Given the description of an element on the screen output the (x, y) to click on. 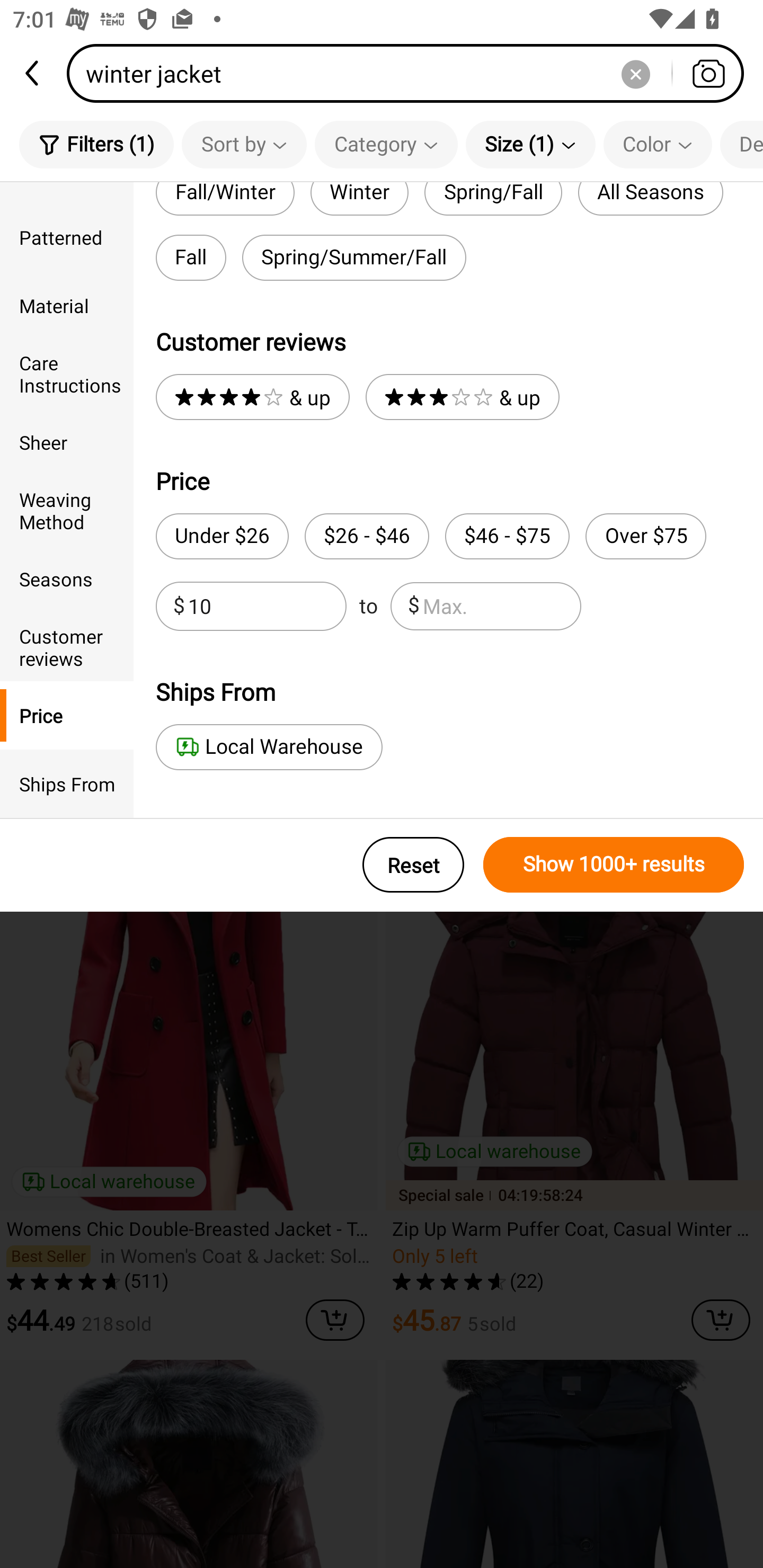
back (33, 72)
winter jacket (411, 73)
Delete search history (635, 73)
Search by photo (708, 73)
Filters (1) (96, 143)
Sort by (243, 143)
Category (385, 143)
Size (1) (530, 143)
Color (657, 143)
Fall/Winter (224, 198)
Winter (359, 198)
Spring/Fall (493, 198)
All Seasons (650, 198)
Patterned (66, 236)
Fall (190, 257)
Spring/Summer/Fall (353, 257)
Material (66, 305)
Care Instructions (66, 373)
& up (252, 397)
& up (462, 397)
Sheer (66, 441)
Weaving Method (66, 510)
Under $26 (221, 535)
$26 - $46 (366, 535)
$46 - $75 (506, 535)
Over $75 (645, 535)
Seasons (66, 578)
$ 10 to $ Max. (368, 605)
Customer reviews (66, 646)
Price (66, 714)
Local Warehouse (268, 746)
Ships From (66, 783)
Reset (412, 864)
Show 1000+ results (612, 864)
